Given the description of an element on the screen output the (x, y) to click on. 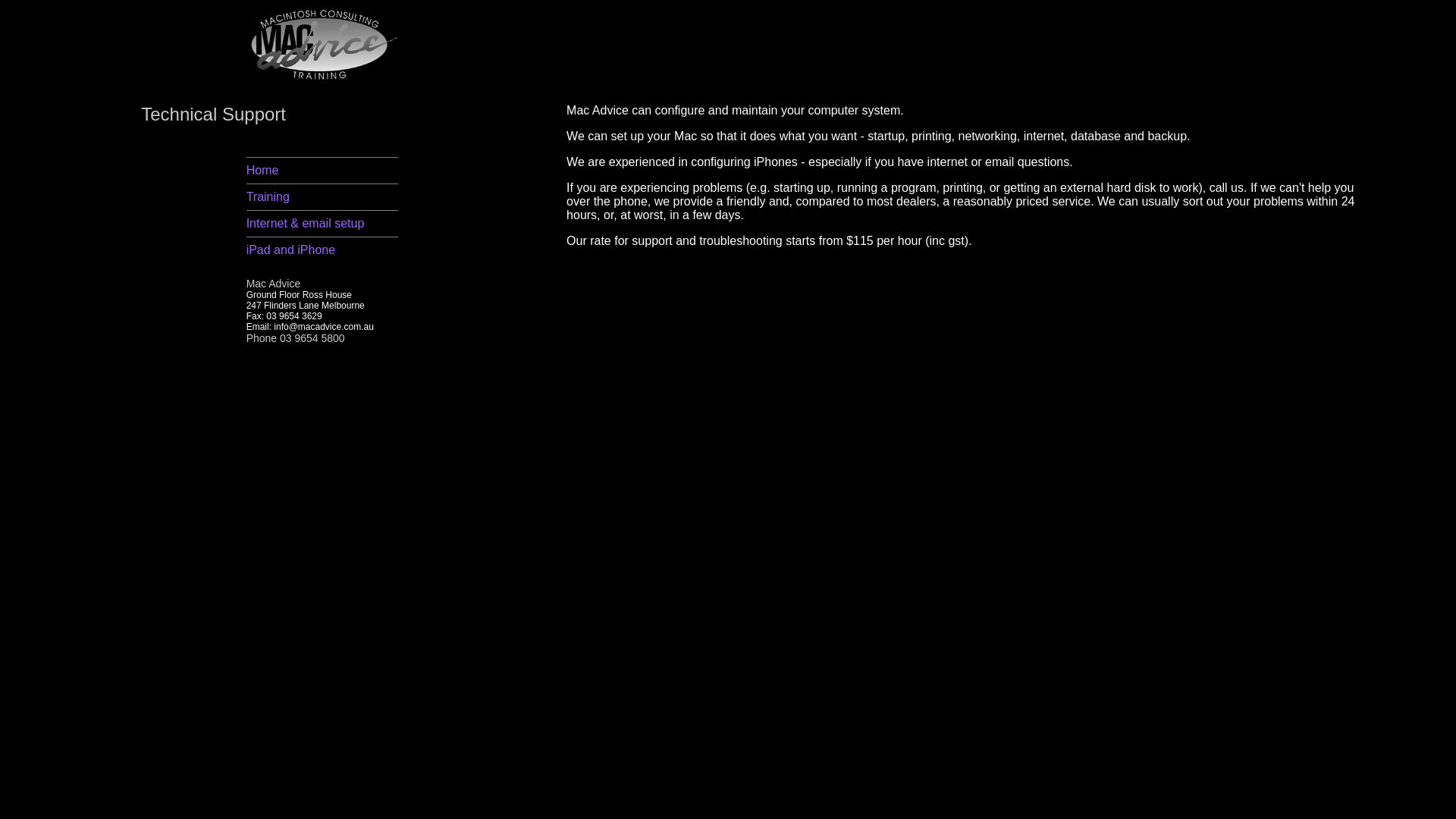
Home Element type: text (262, 169)
Training Element type: text (267, 196)
iPad and iPhone Element type: text (290, 249)
Internet & email setup Element type: text (305, 222)
